Given the description of an element on the screen output the (x, y) to click on. 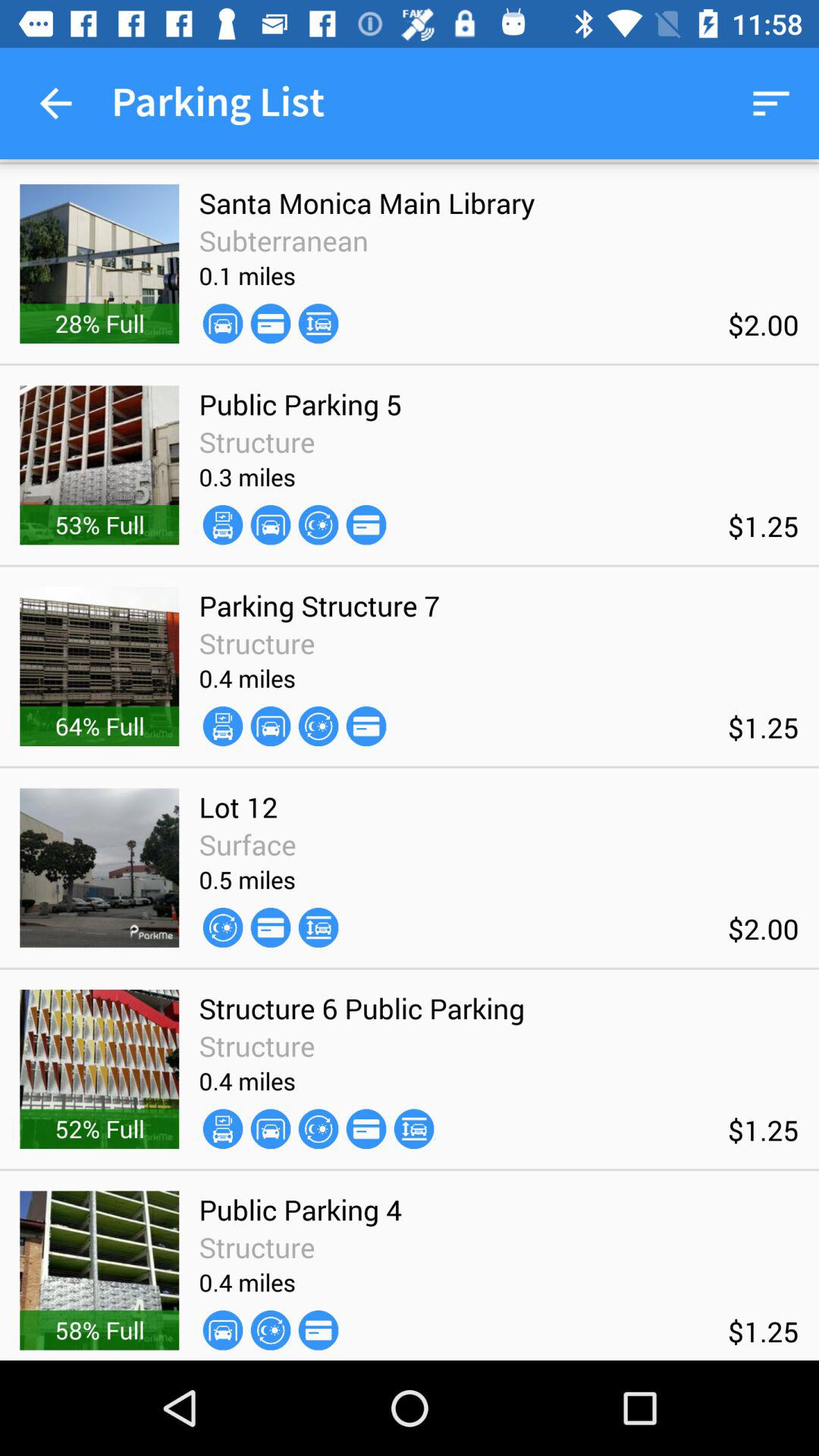
jump to the 28% full (99, 323)
